Given the description of an element on the screen output the (x, y) to click on. 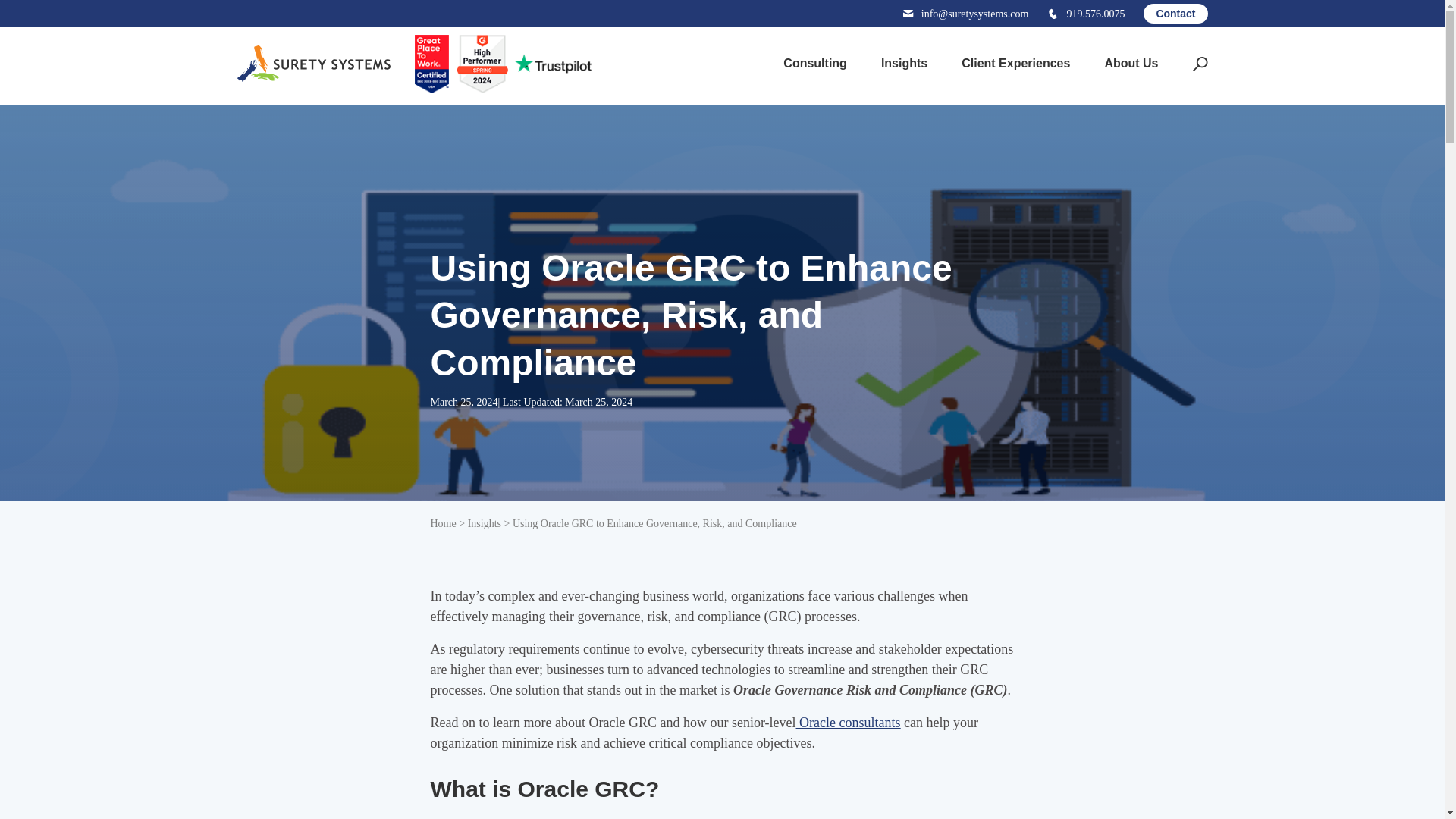
Client Experiences (1010, 63)
About Us (1125, 63)
Insights (899, 63)
919.576.0075 (1085, 13)
Consulting (809, 63)
Contact (1174, 13)
